Given the description of an element on the screen output the (x, y) to click on. 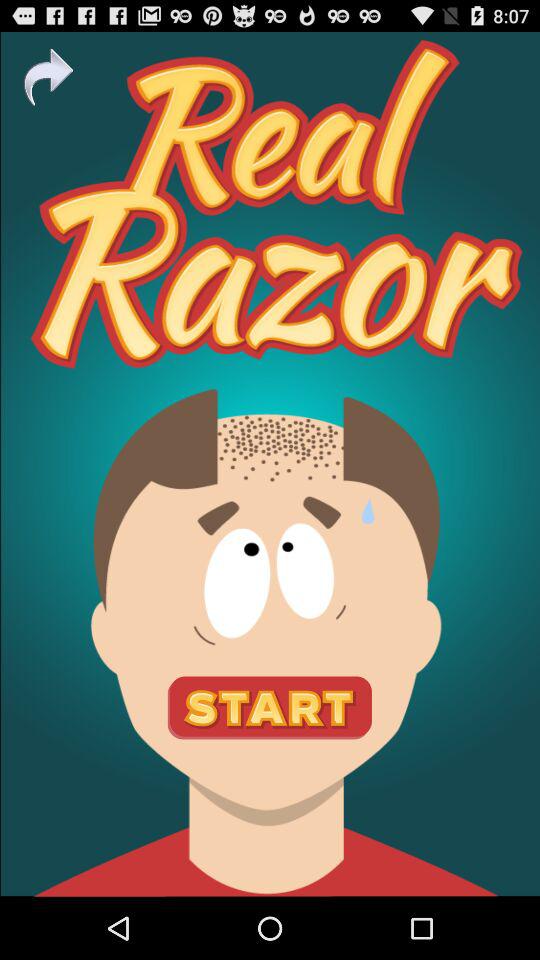
select the icon at the top left corner (48, 77)
